Given the description of an element on the screen output the (x, y) to click on. 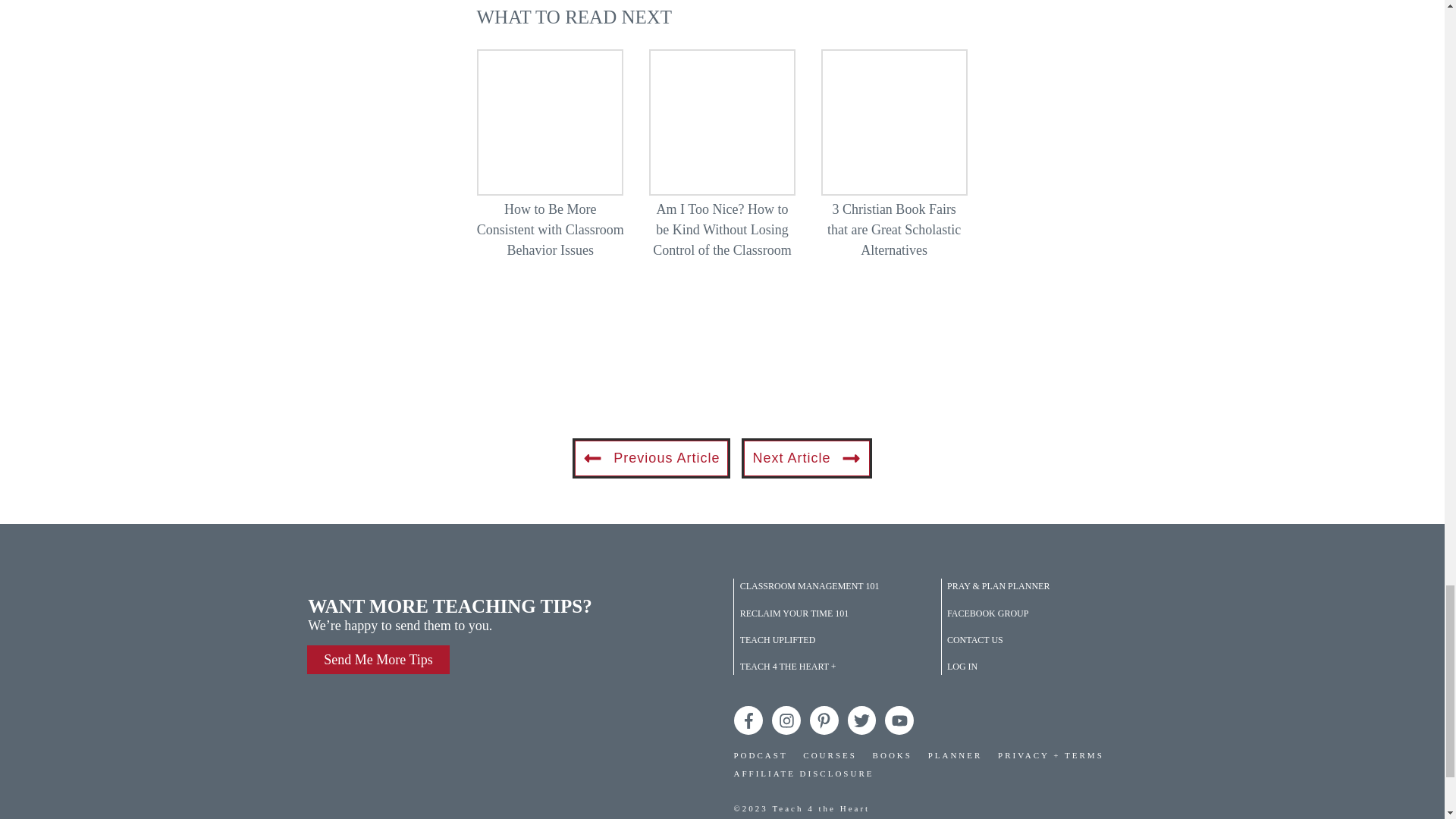
Previous Article (651, 457)
Send Me More Tips (378, 659)
TEACH UPLIFTED (777, 640)
RECLAIM YOUR TIME 101 (793, 613)
Next Article (806, 457)
CONTACT US (975, 640)
